Given the description of an element on the screen output the (x, y) to click on. 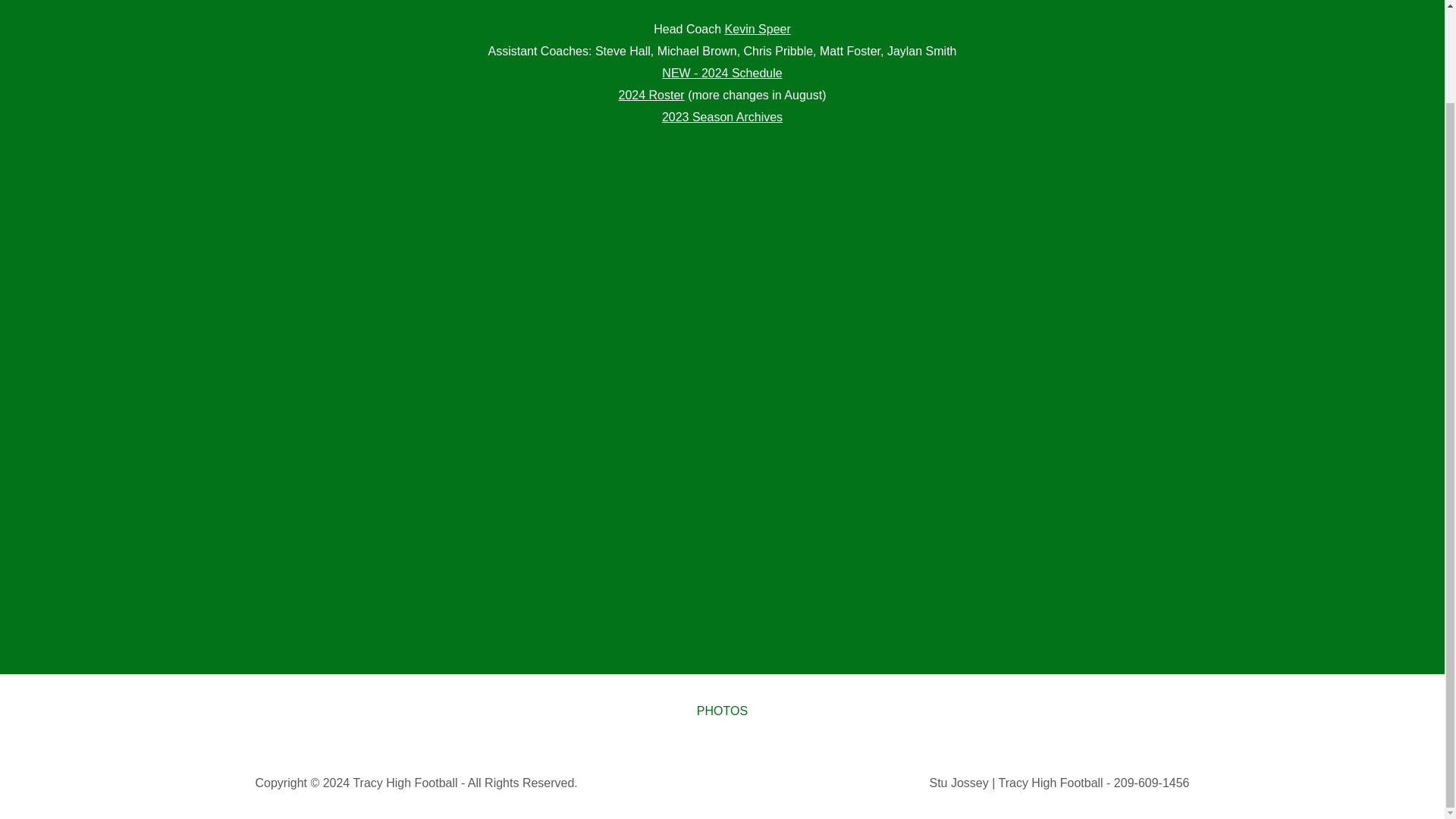
NEW - 2024 Schedule (721, 72)
Kevin Speer (757, 29)
2024 Roster (651, 94)
2023 Season Archives (722, 116)
PHOTOS (722, 710)
